Given the description of an element on the screen output the (x, y) to click on. 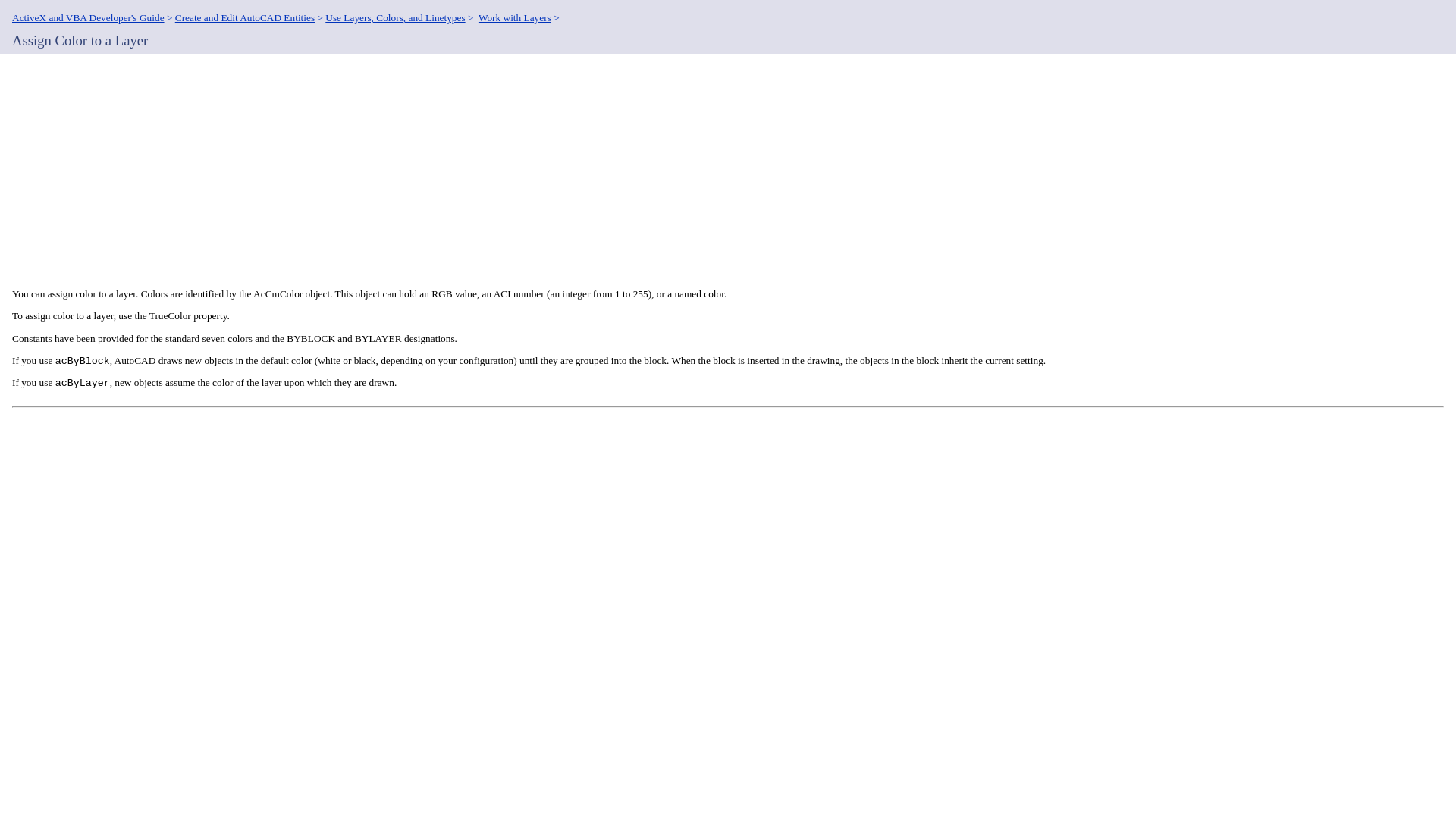
Use Layers, Colors, and Linetypes (394, 17)
Work with Layers (515, 17)
ActiveX and VBA Developer's Guide (87, 17)
Create and Edit AutoCAD Entities (244, 17)
